Given the description of an element on the screen output the (x, y) to click on. 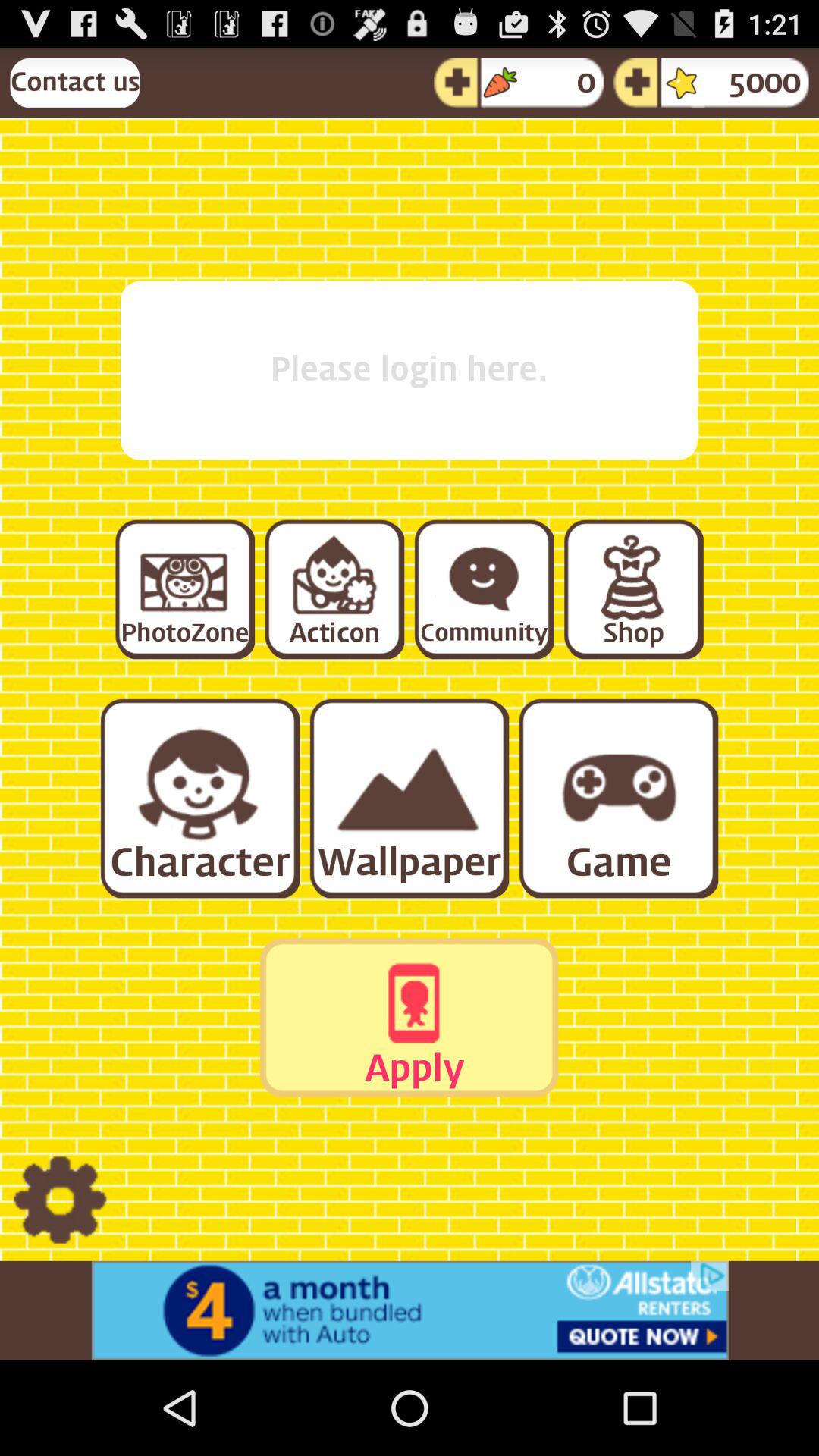
games section (617, 797)
